Given the description of an element on the screen output the (x, y) to click on. 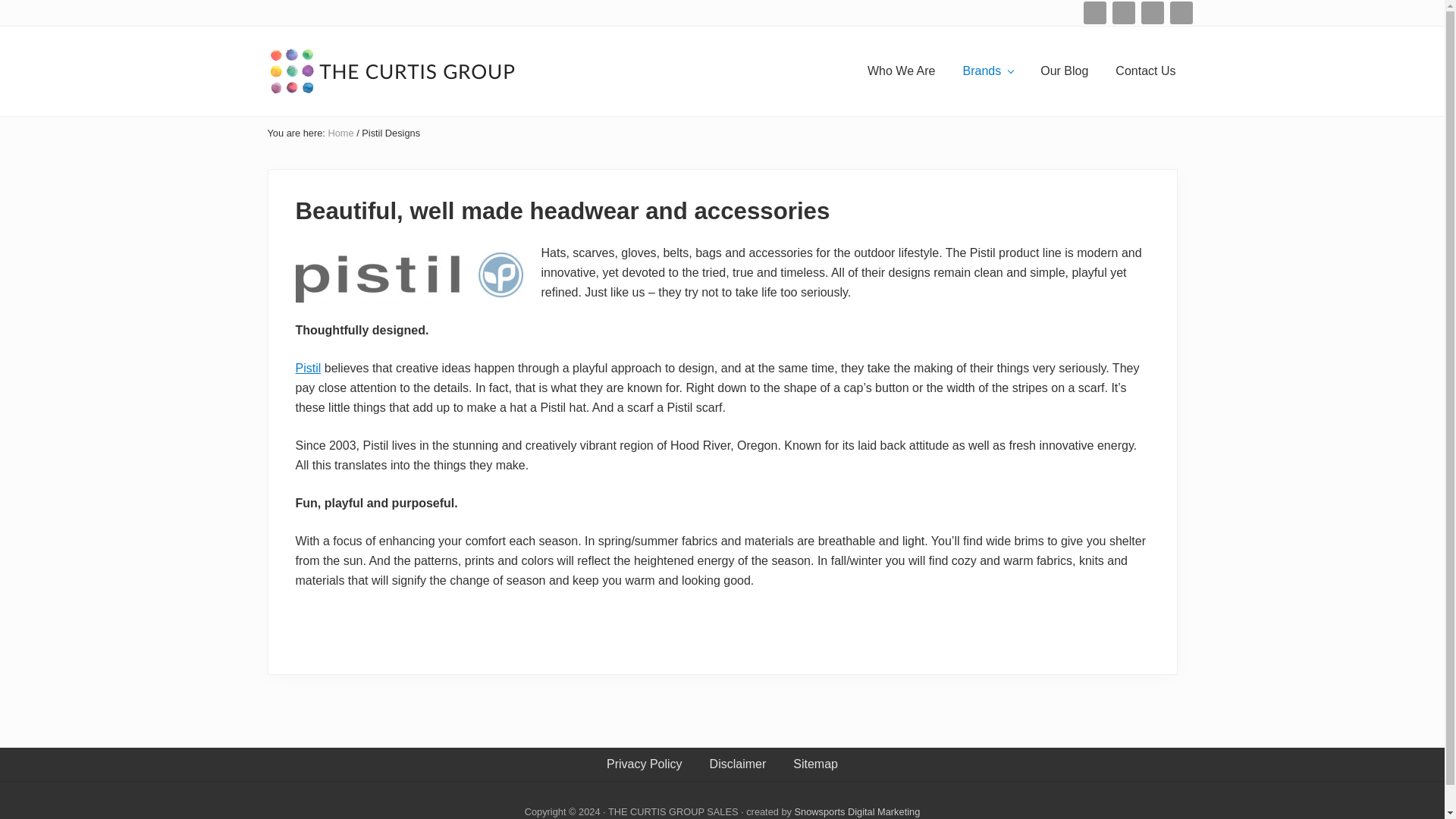
Facebook (1122, 12)
Who We Are (901, 70)
Home (340, 132)
Pistil (308, 367)
Instagram (1151, 12)
Pinterest (1180, 12)
Contact Us (1145, 70)
Email (1093, 12)
Facebook (1123, 12)
Email (1094, 12)
Disclaimer (737, 764)
Sitemap (814, 764)
Snowsports Digital Marketing (857, 811)
Privacy Policy (643, 764)
